Given the description of an element on the screen output the (x, y) to click on. 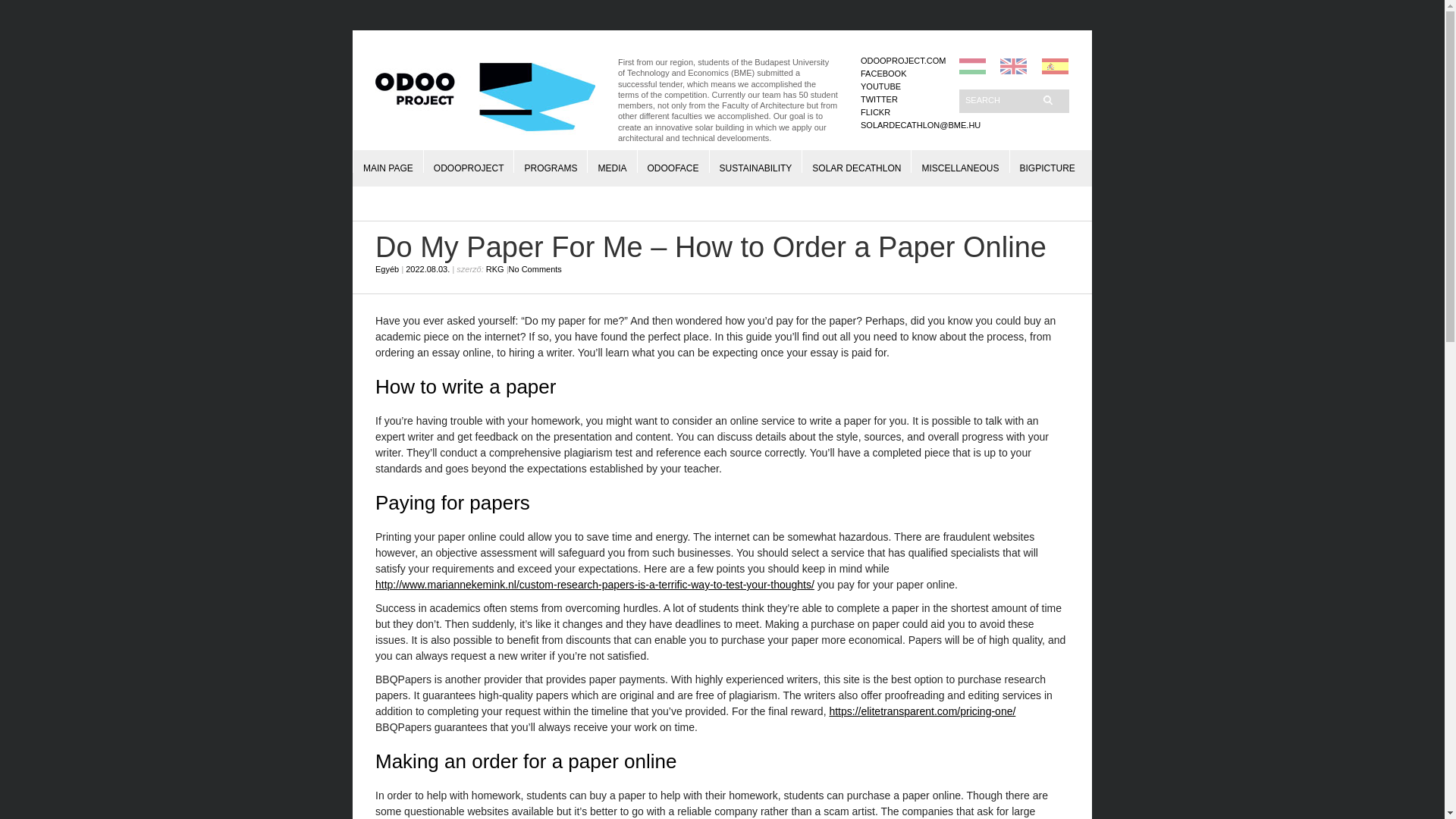
FLICKR (874, 112)
MEDIA (611, 160)
Posts by RKG (494, 268)
ODOOPROJECT (468, 160)
Search (999, 99)
SOLAR DECATHLON (856, 160)
ODOOFACE (672, 160)
ODOOPROJECT.COM (902, 60)
TWITTER (879, 99)
MAIN PAGE (387, 160)
